Given the description of an element on the screen output the (x, y) to click on. 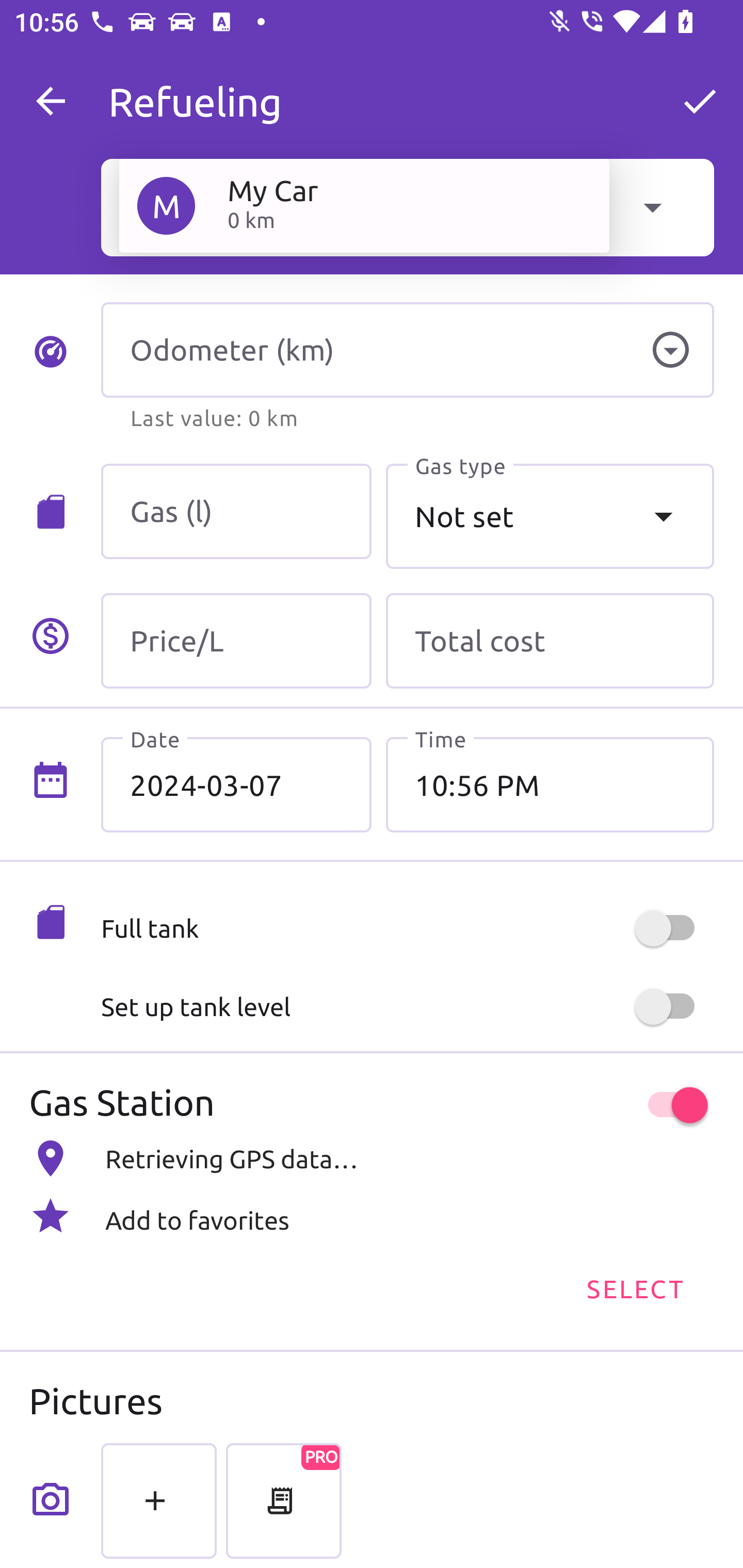
M My Car 0 km (363, 205)
